Given the description of an element on the screen output the (x, y) to click on. 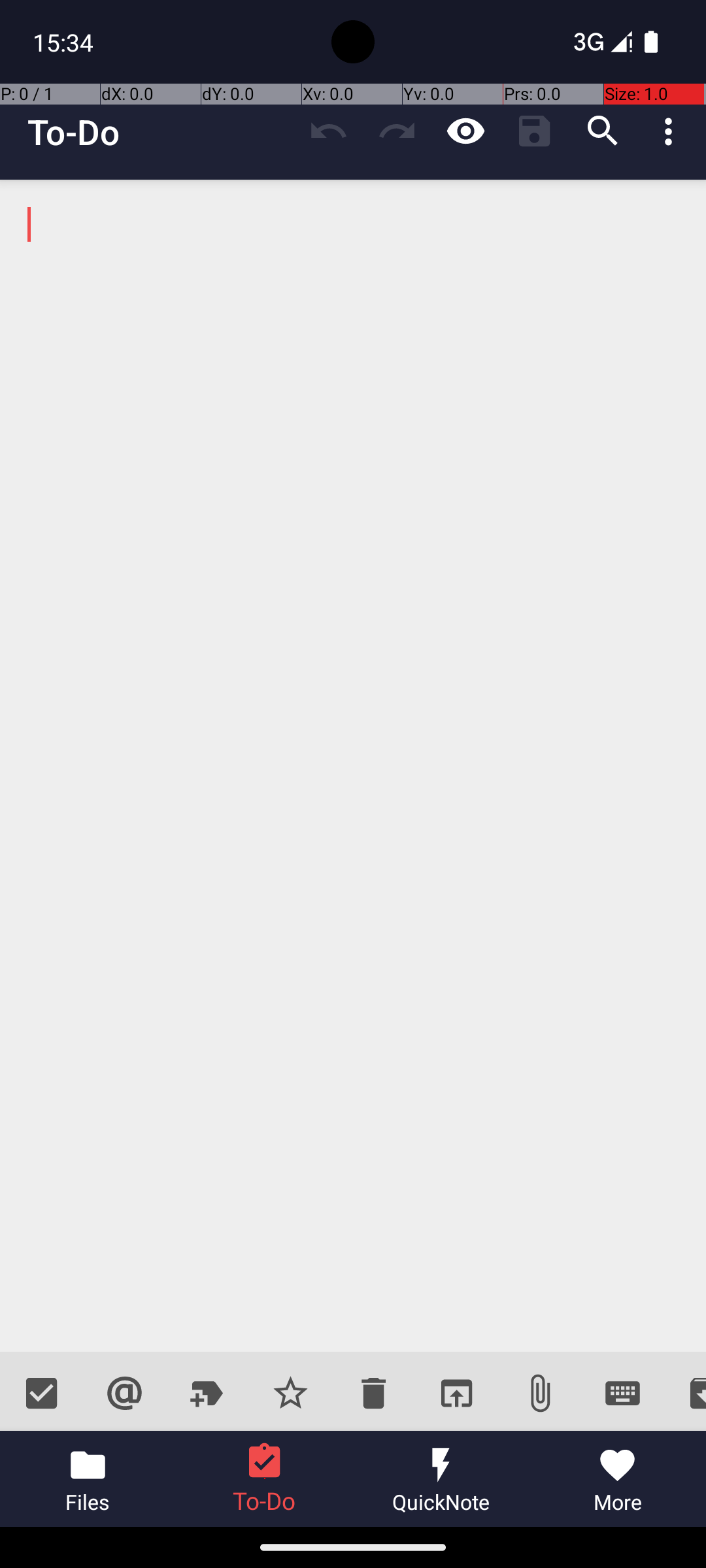
Toggle done Element type: android.widget.ImageView (41, 1392)
Add context Element type: android.widget.ImageView (124, 1392)
Add project Element type: android.widget.ImageView (207, 1392)
Priority Element type: android.widget.ImageView (290, 1392)
Archive completed tasks Element type: android.widget.ImageView (685, 1392)
